Given the description of an element on the screen output the (x, y) to click on. 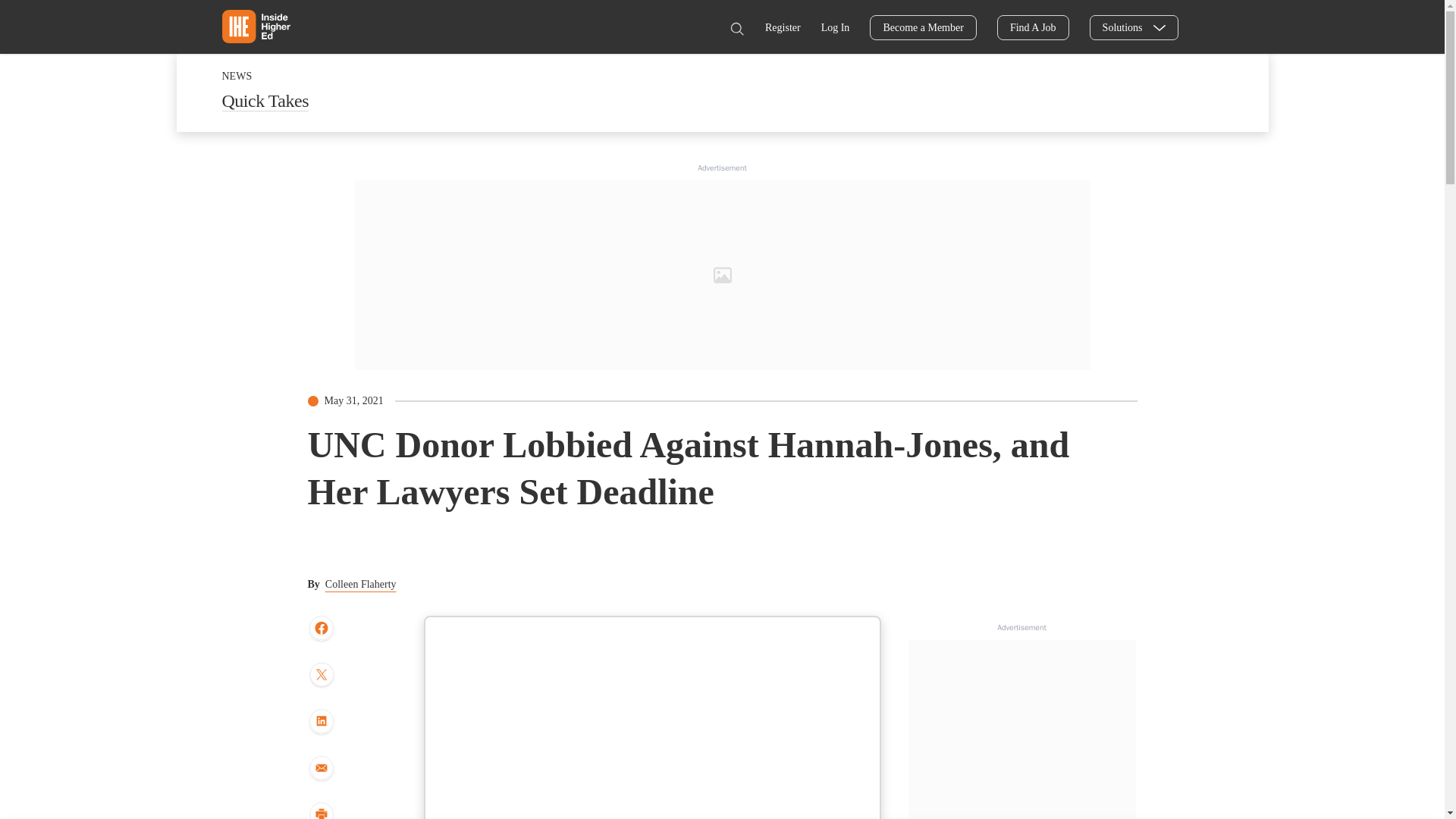
share to Linkedin (320, 722)
share by email (320, 768)
share to twitter (320, 676)
share to facebook (320, 628)
Find A Job (1032, 27)
Home (255, 26)
Search (736, 28)
Become a Member (922, 27)
